Given the description of an element on the screen output the (x, y) to click on. 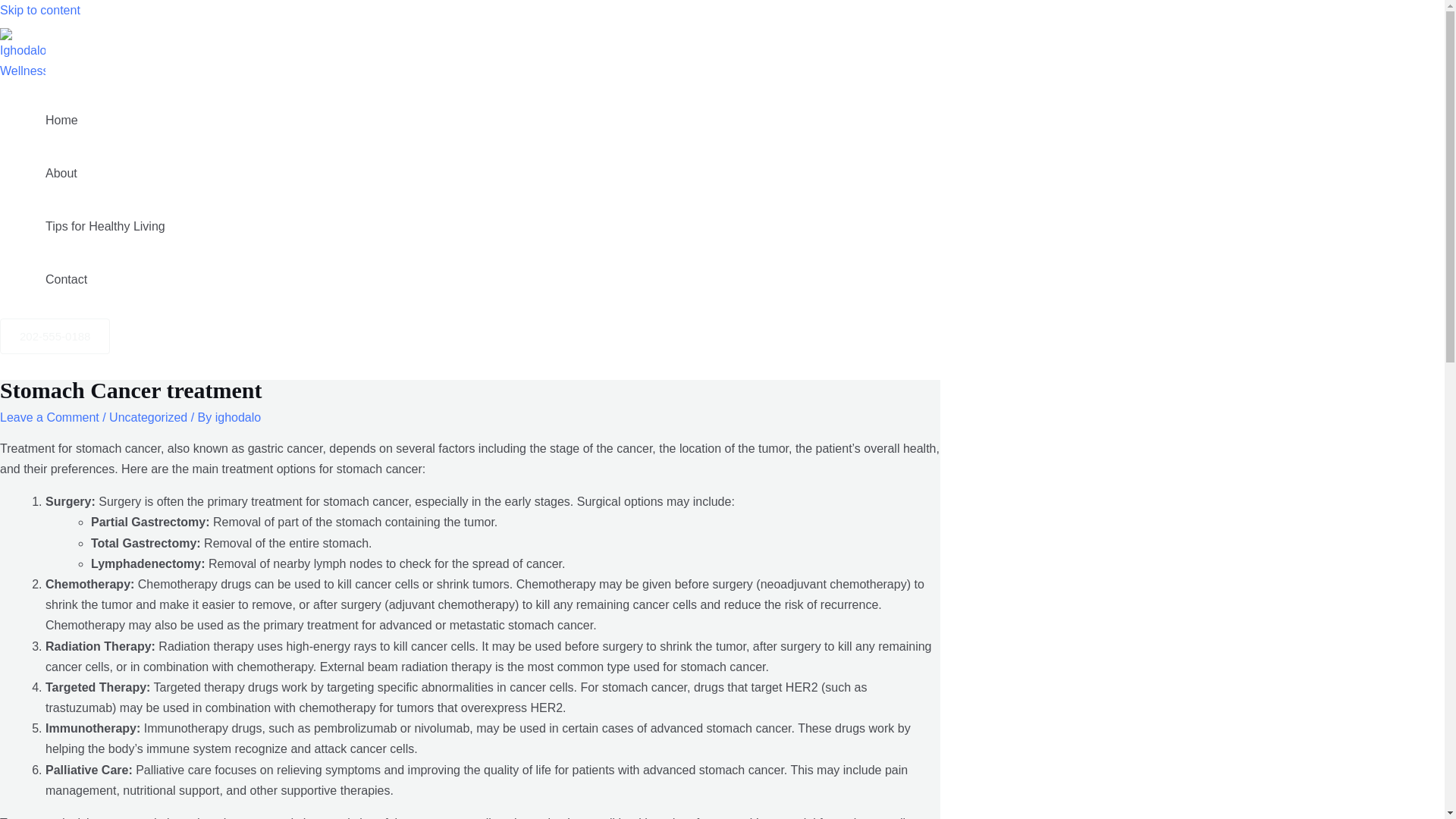
Leave a Comment (49, 417)
Contact (105, 279)
Tips for Healthy Living (105, 226)
Skip to content (40, 10)
202-555-0188 (55, 335)
Home (105, 120)
Uncategorized (148, 417)
View all posts by ighodalo (238, 417)
About (105, 173)
Skip to content (40, 10)
ighodalo (238, 417)
